Given the description of an element on the screen output the (x, y) to click on. 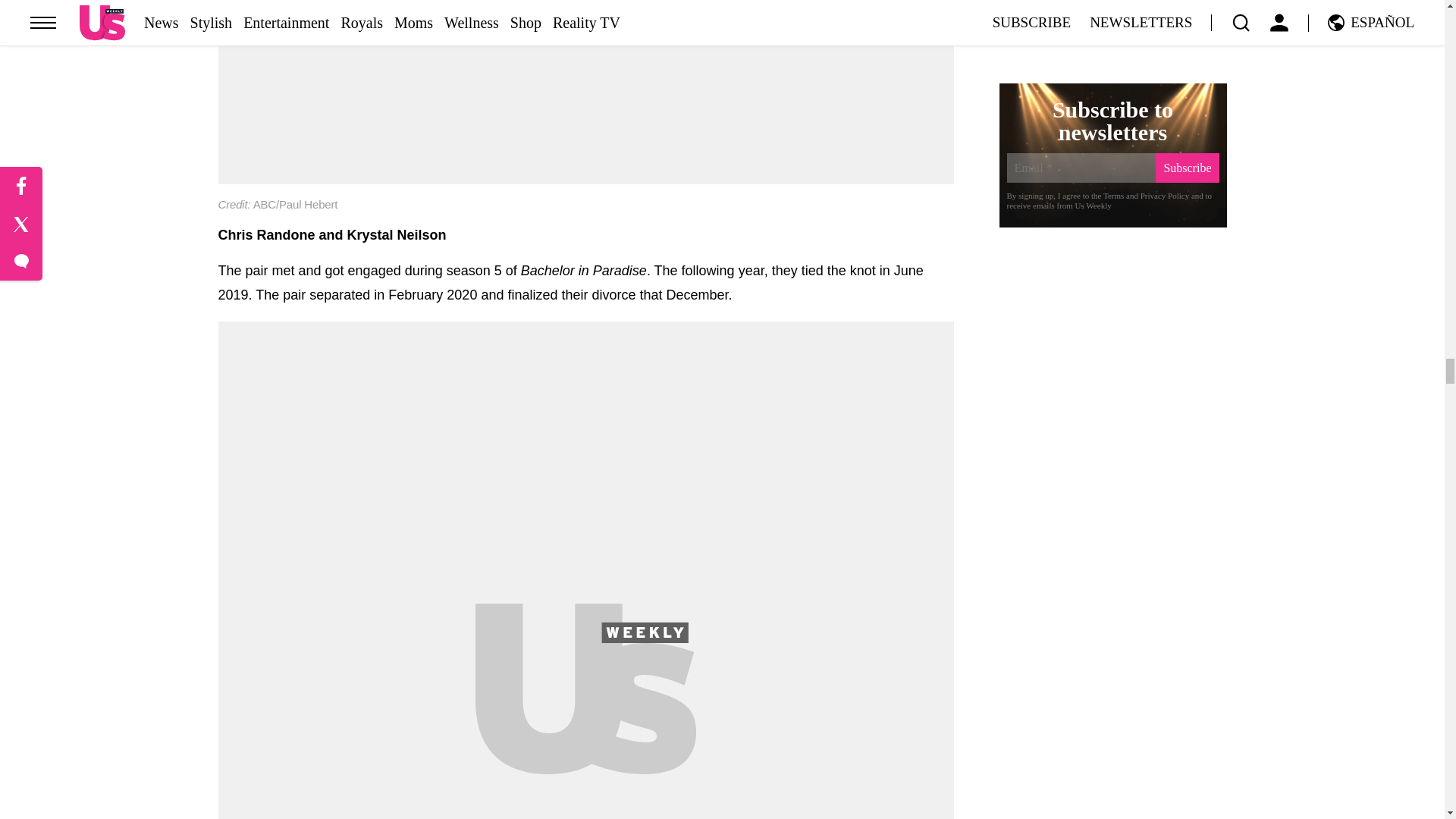
Chris Randone and Krystal Neilson (585, 18)
